Given the description of an element on the screen output the (x, y) to click on. 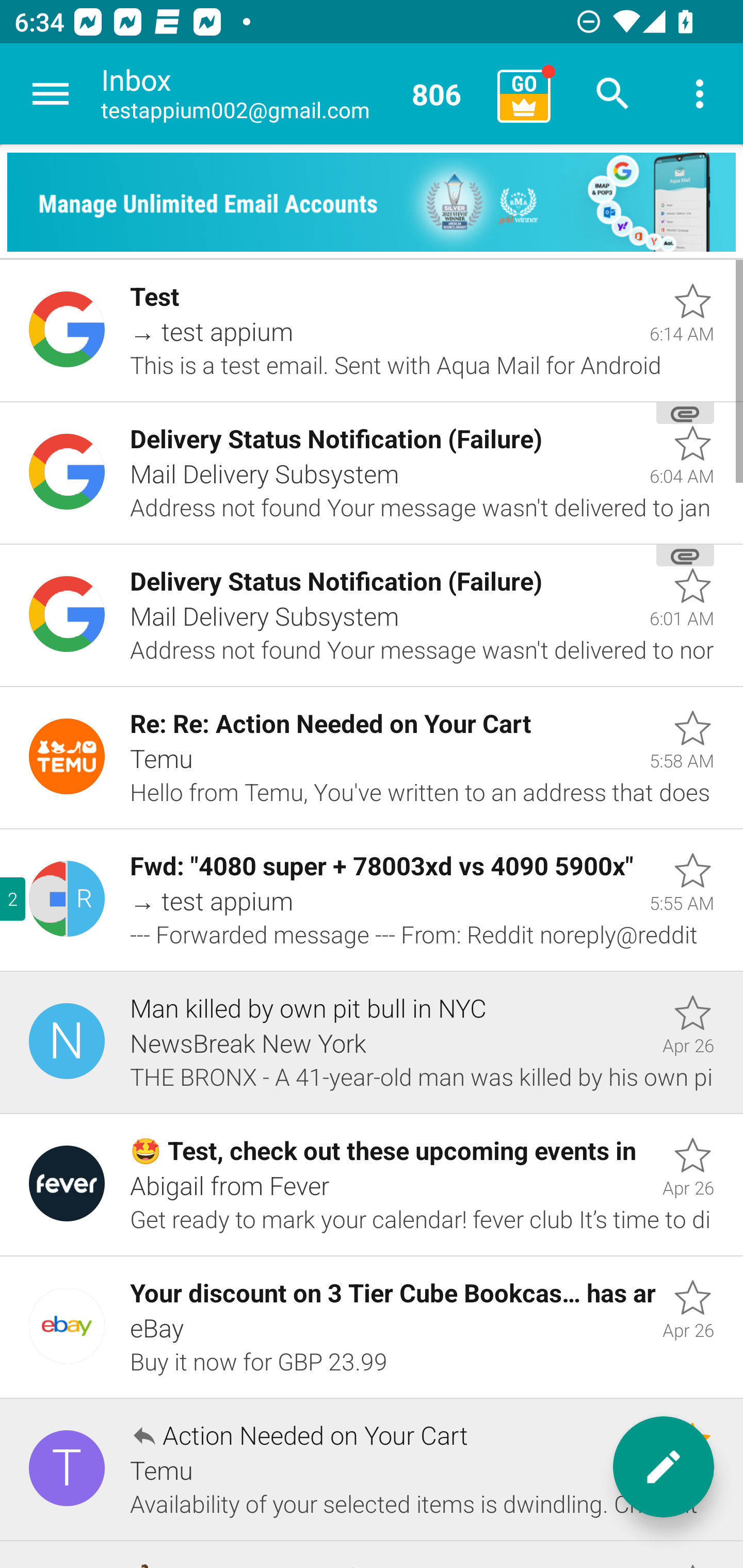
Navigate up (50, 93)
Inbox testappium002@gmail.com 806 (291, 93)
Search (612, 93)
More options (699, 93)
New message (663, 1466)
